Given the description of an element on the screen output the (x, y) to click on. 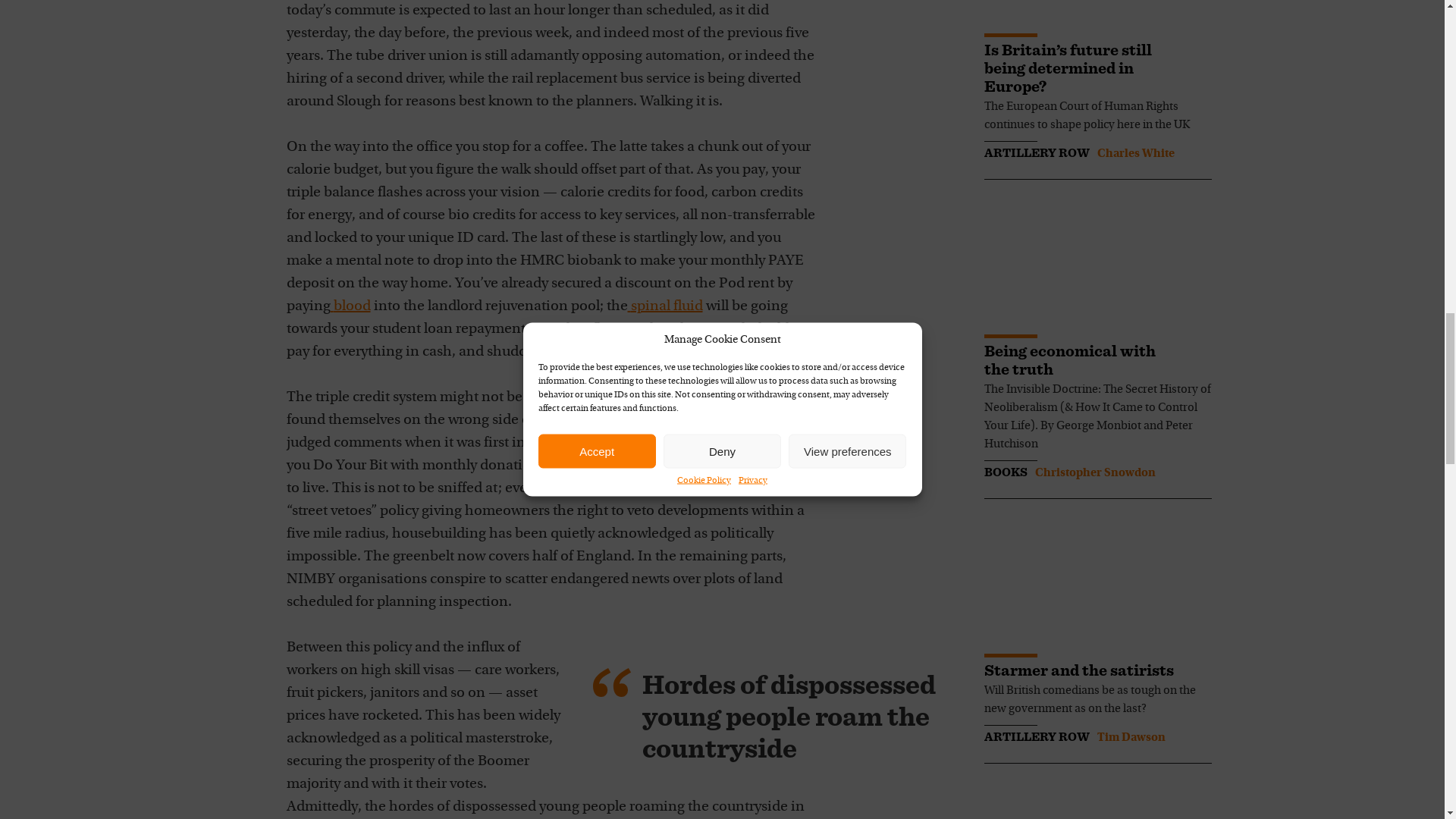
Posts by Charles White (1134, 153)
Posts by Tim Dawson (1130, 737)
spinal fluid (665, 305)
Posts by Christopher Snowdon (1093, 472)
blood (350, 305)
